Given the description of an element on the screen output the (x, y) to click on. 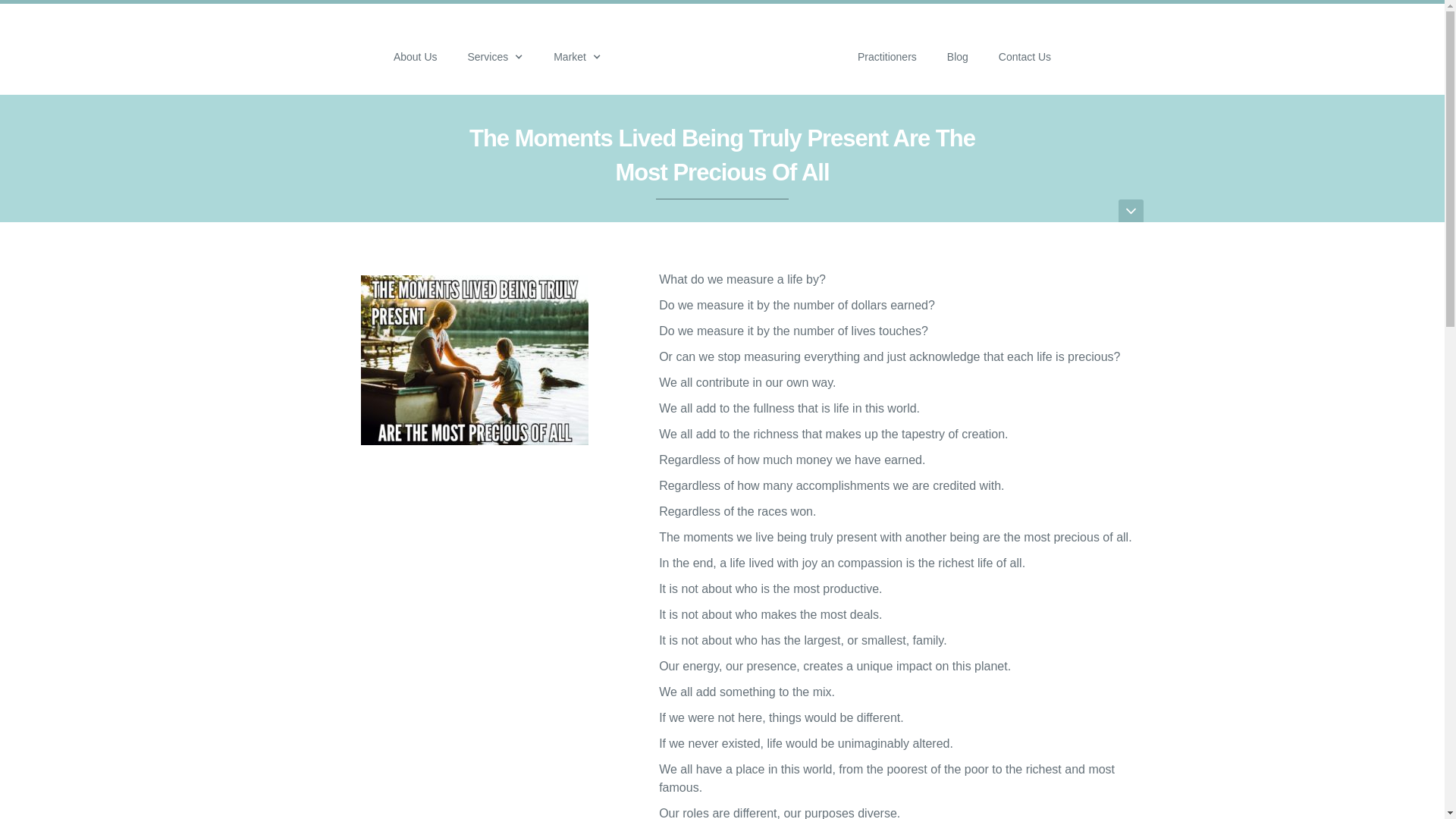
Practitioners (887, 49)
Contact Us (1024, 49)
